Given the description of an element on the screen output the (x, y) to click on. 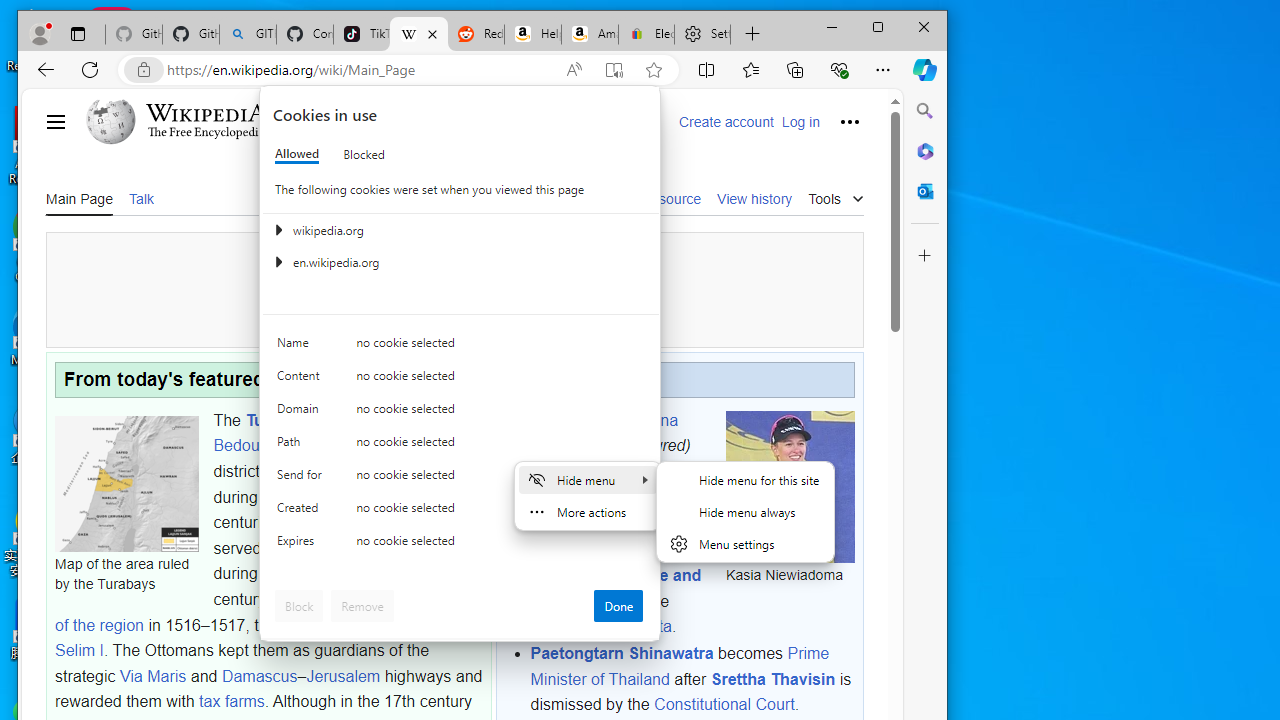
Class: c0153 c0157 (460, 545)
Name (302, 346)
Expires (302, 544)
Domain (302, 413)
Hide menu for this site (745, 479)
Done (617, 605)
Class: c0153 c0157 c0154 (460, 347)
Path (302, 446)
Block (299, 605)
More actions (587, 511)
Blocked (363, 153)
Hide menu (745, 523)
Created (302, 511)
Send for (302, 479)
Allowed (296, 153)
